Given the description of an element on the screen output the (x, y) to click on. 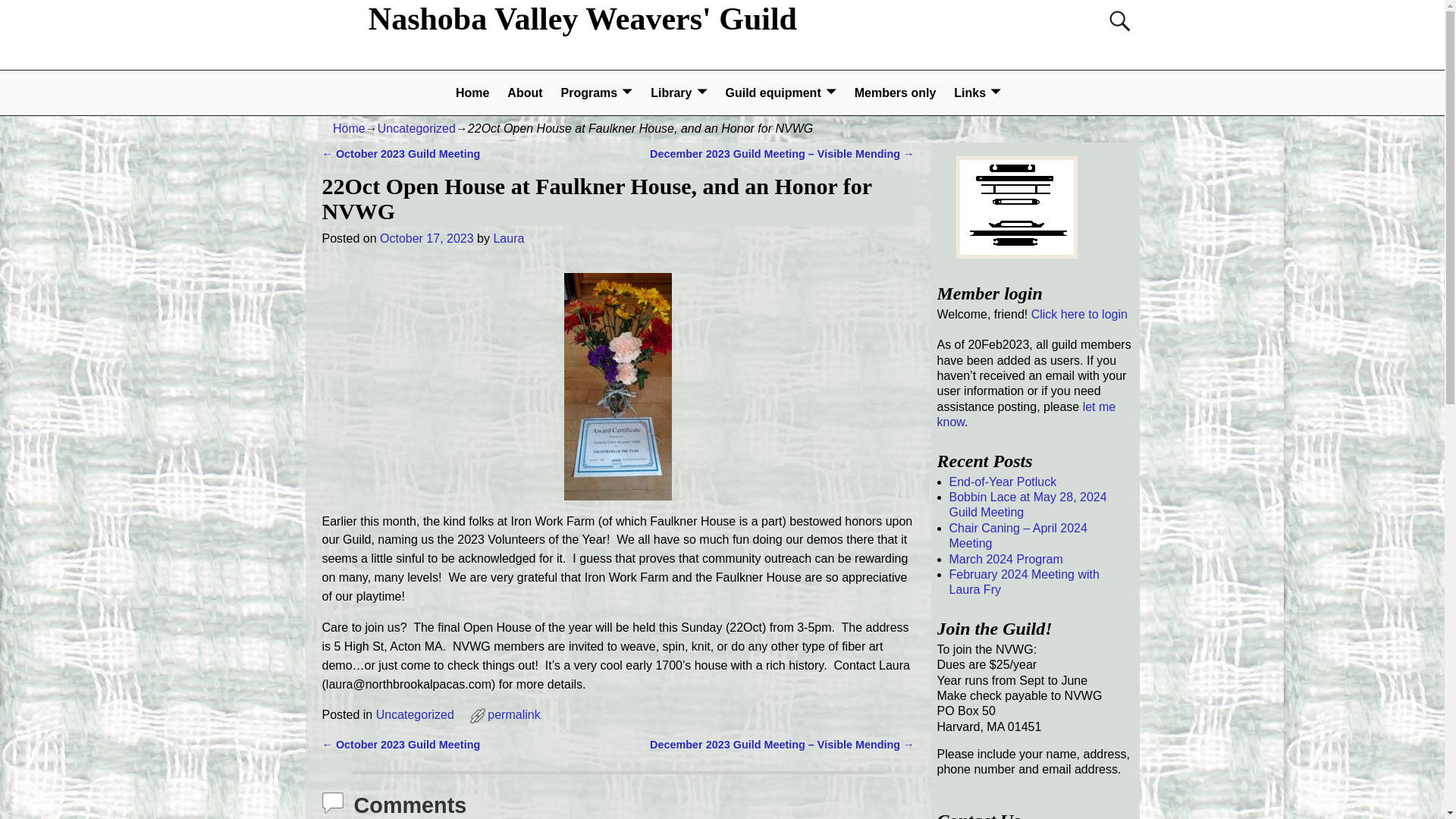
Uncategorized (416, 128)
Links (977, 92)
nvwg.org (471, 92)
Home (349, 128)
Guild equipment (780, 92)
Programs (596, 92)
Library (679, 92)
Home (471, 92)
Nashoba Valley Weavers' Guild (583, 18)
Members only (894, 92)
About (524, 92)
Members only (894, 92)
Nashoba Valley Weavers' Guild (583, 18)
